Given the description of an element on the screen output the (x, y) to click on. 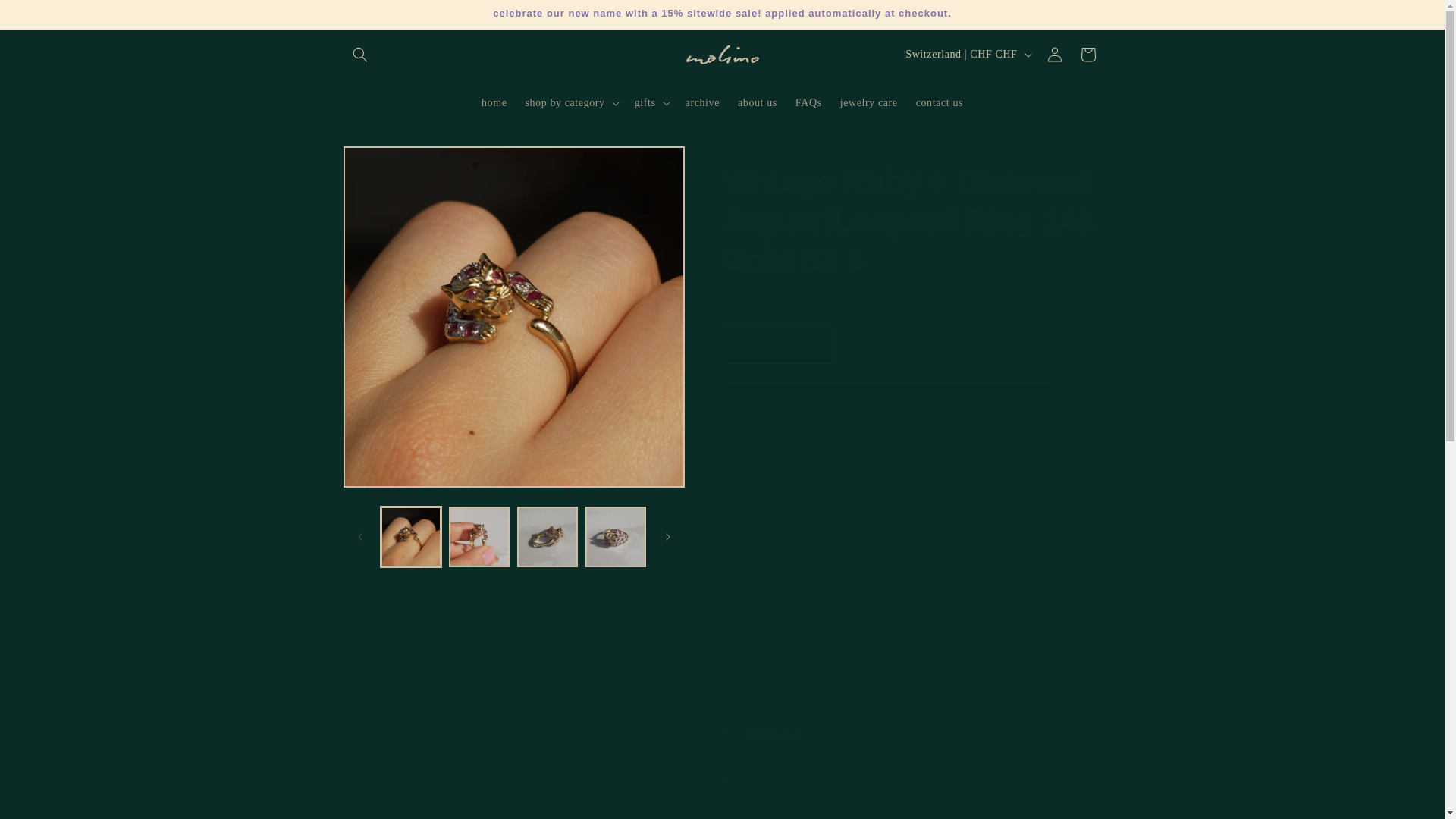
ring sizing chart (822, 648)
Skip to content (46, 18)
home (493, 101)
1 (777, 344)
Open media 1 in modal (513, 316)
